Given the description of an element on the screen output the (x, y) to click on. 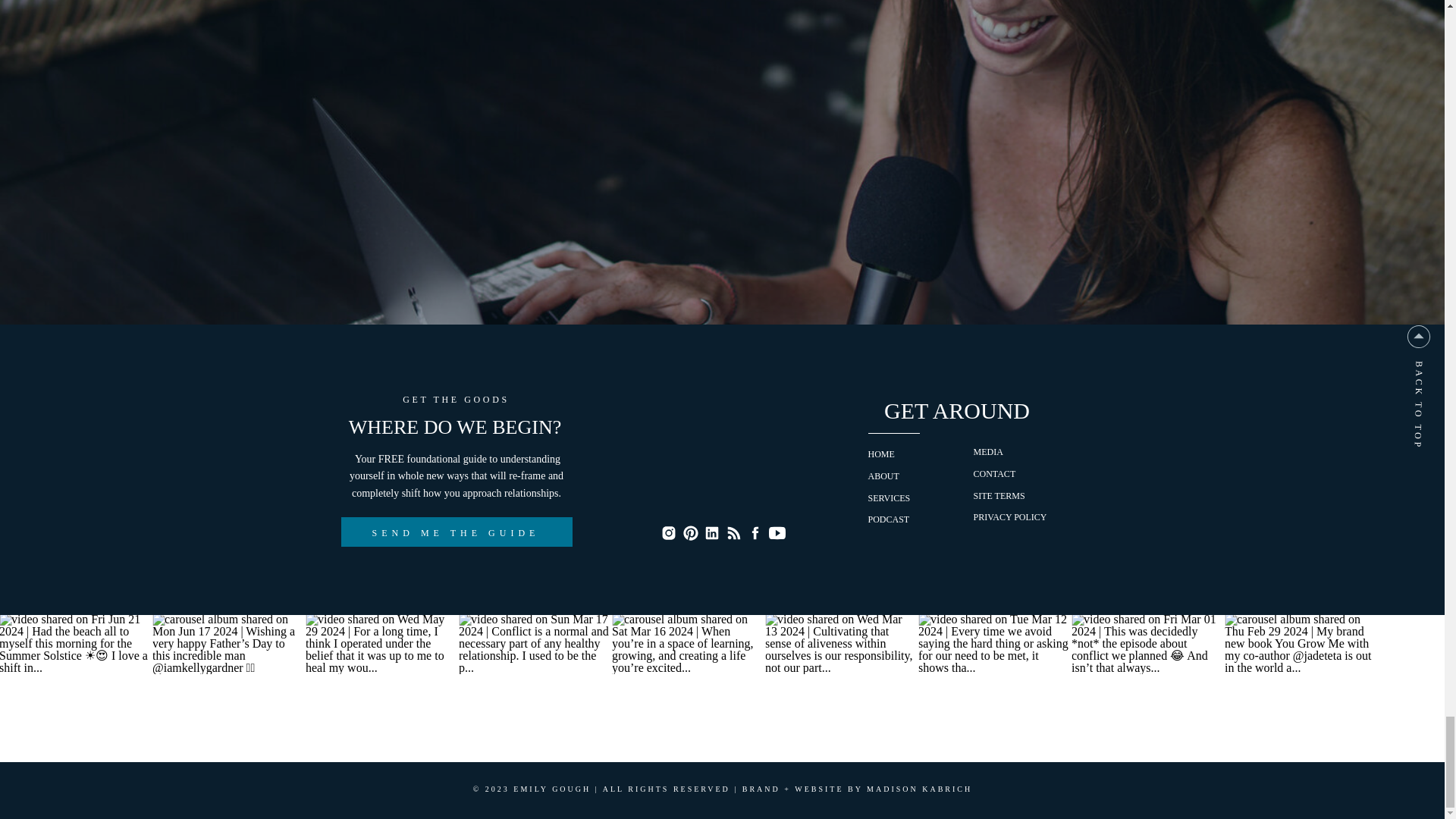
SERVICES (888, 498)
SEND ME THE GUIDE (455, 532)
SITE TERMS (999, 495)
HOME (880, 453)
PODCAST (887, 519)
CONTACT (995, 473)
MEDIA (988, 451)
ABOUT (882, 475)
PRIVACY POLICY (1010, 516)
